Given the description of an element on the screen output the (x, y) to click on. 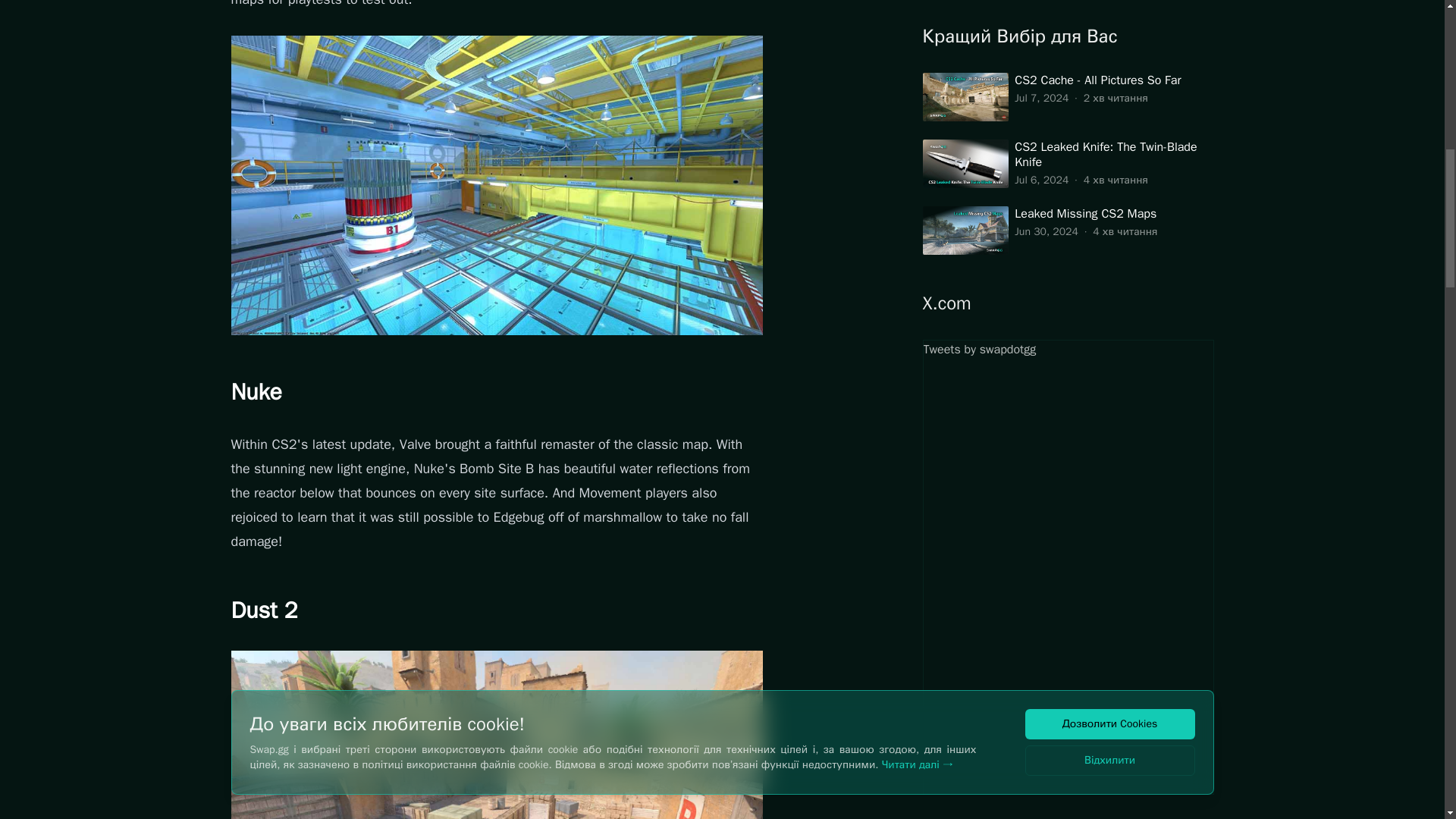
Tweets by swapdotgg (1066, 162)
